Given the description of an element on the screen output the (x, y) to click on. 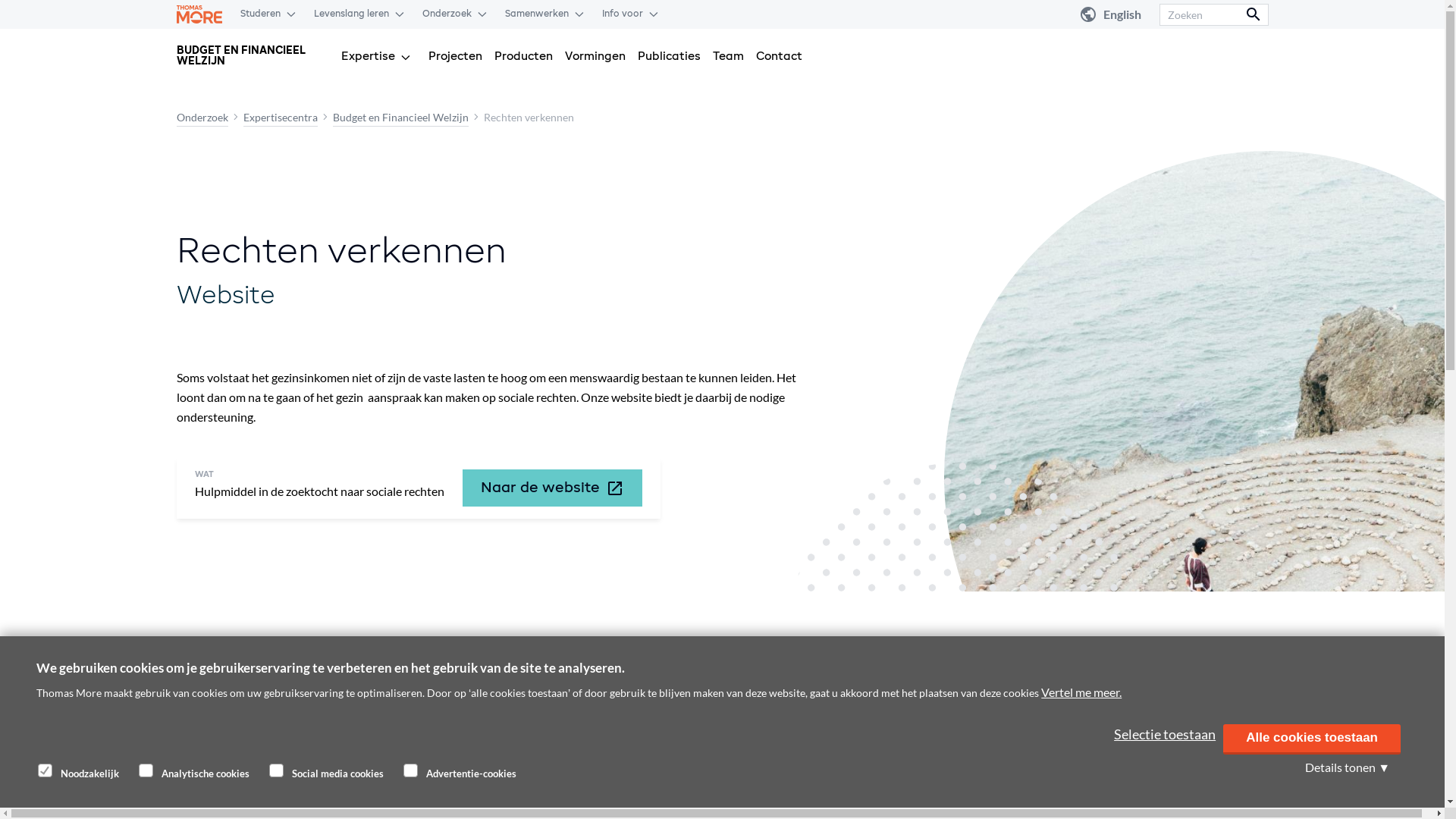
Levenslang leren Element type: text (351, 14)
English Element type: text (1121, 14)
Expertisecentra Element type: text (279, 116)
Ga naar de hoofdinhoud Element type: text (0, 0)
Onderzoek Element type: text (446, 14)
Budget en Financieel Welzijn Element type: text (399, 116)
Contact Element type: text (779, 60)
Projecten Element type: text (455, 60)
Publicaties Element type: text (668, 60)
Vormingen Element type: text (594, 60)
Producten Element type: text (523, 60)
Onderzoek Element type: text (201, 116)
Team Element type: text (727, 60)
Naar de website Element type: text (552, 487)
BUDGET EN FINANCIEEL WELZIJN Element type: text (251, 55)
Vertel me meer. Element type: text (1081, 691)
Info voor Element type: text (622, 14)
Selectie toestaan Element type: text (1164, 733)
Details tonen Element type: text (1347, 765)
Studeren Element type: text (260, 14)
Samenwerken Element type: text (536, 14)
Expertise Element type: text (368, 60)
Zoeken Element type: hover (1212, 14)
Alle cookies toestaan Element type: text (1311, 739)
